Given the description of an element on the screen output the (x, y) to click on. 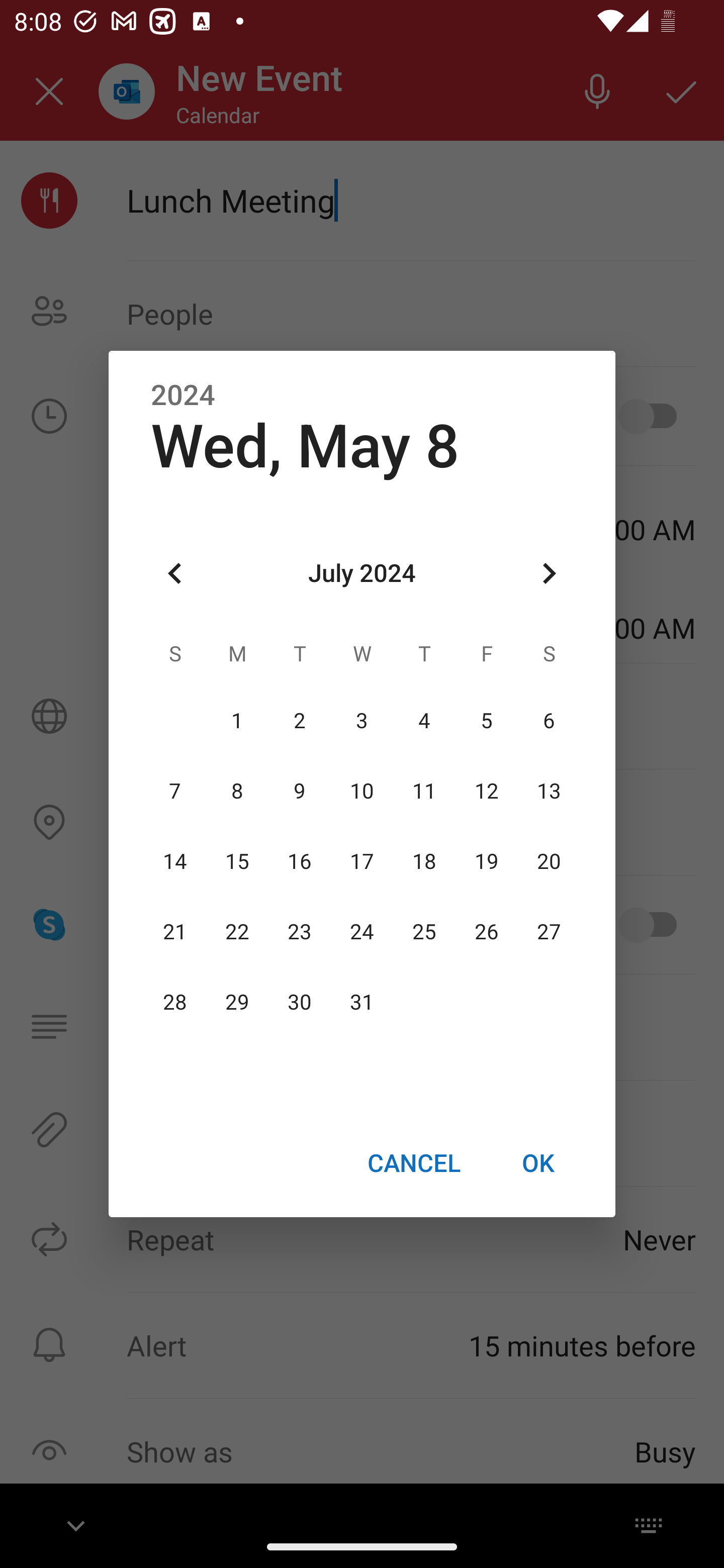
2024 (182, 395)
Wed, May 8 (304, 446)
Previous month (174, 573)
Next month (548, 573)
1 01 July 2024 (237, 720)
2 02 July 2024 (299, 720)
3 03 July 2024 (361, 720)
4 04 July 2024 (424, 720)
5 05 July 2024 (486, 720)
6 06 July 2024 (548, 720)
7 07 July 2024 (175, 790)
8 08 July 2024 (237, 790)
9 09 July 2024 (299, 790)
10 10 July 2024 (361, 790)
11 11 July 2024 (424, 790)
12 12 July 2024 (486, 790)
13 13 July 2024 (548, 790)
14 14 July 2024 (175, 861)
15 15 July 2024 (237, 861)
16 16 July 2024 (299, 861)
